Given the description of an element on the screen output the (x, y) to click on. 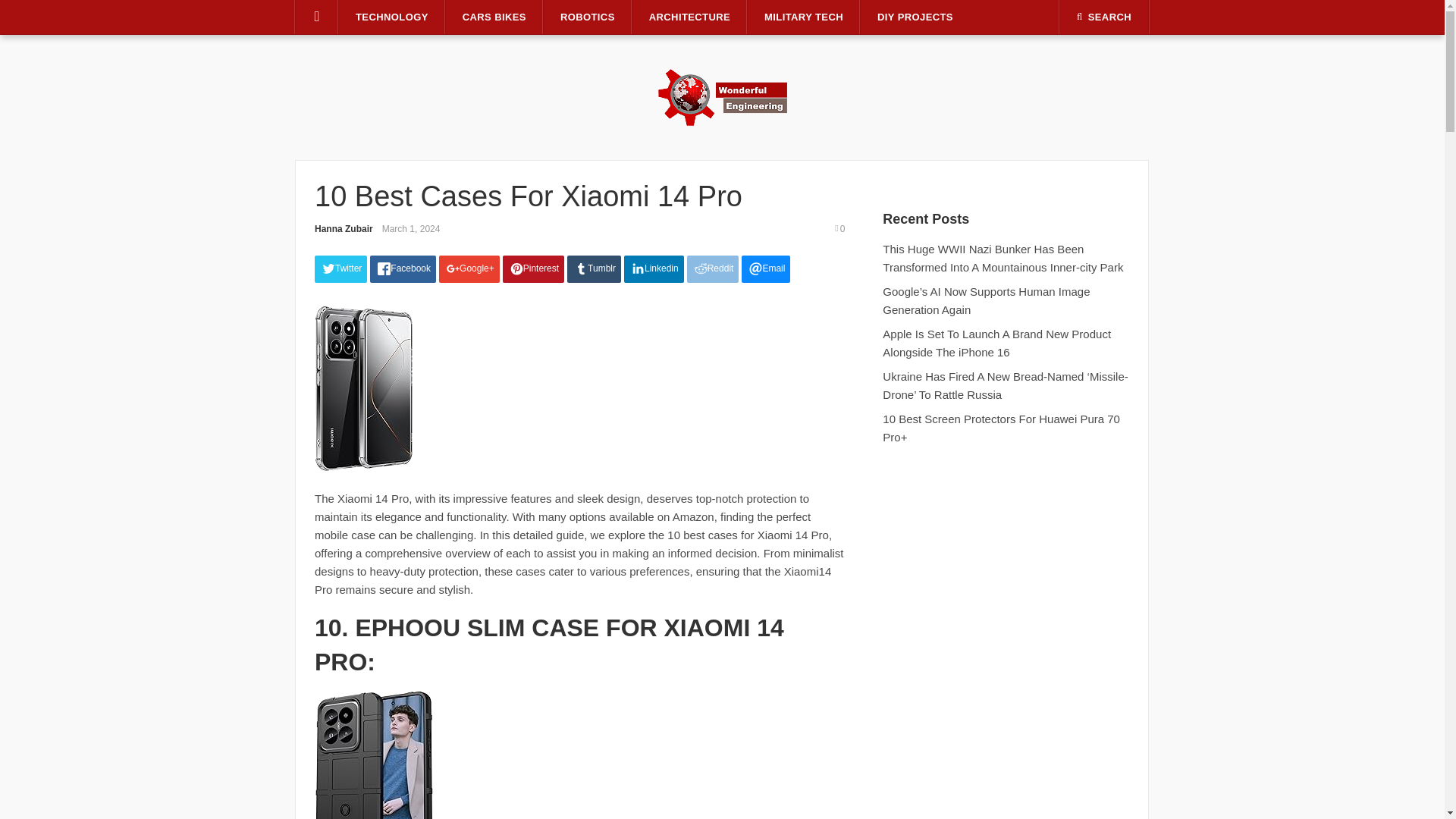
Tumblr (594, 268)
Facebook (402, 268)
ARCHITECTURE (688, 17)
SEARCH (1104, 16)
CARS BIKES (494, 17)
MILITARY TECH (804, 17)
TECHNOLOGY (392, 17)
DIY PROJECTS (914, 17)
Wonderful Engineering (722, 95)
Email (765, 268)
